Given the description of an element on the screen output the (x, y) to click on. 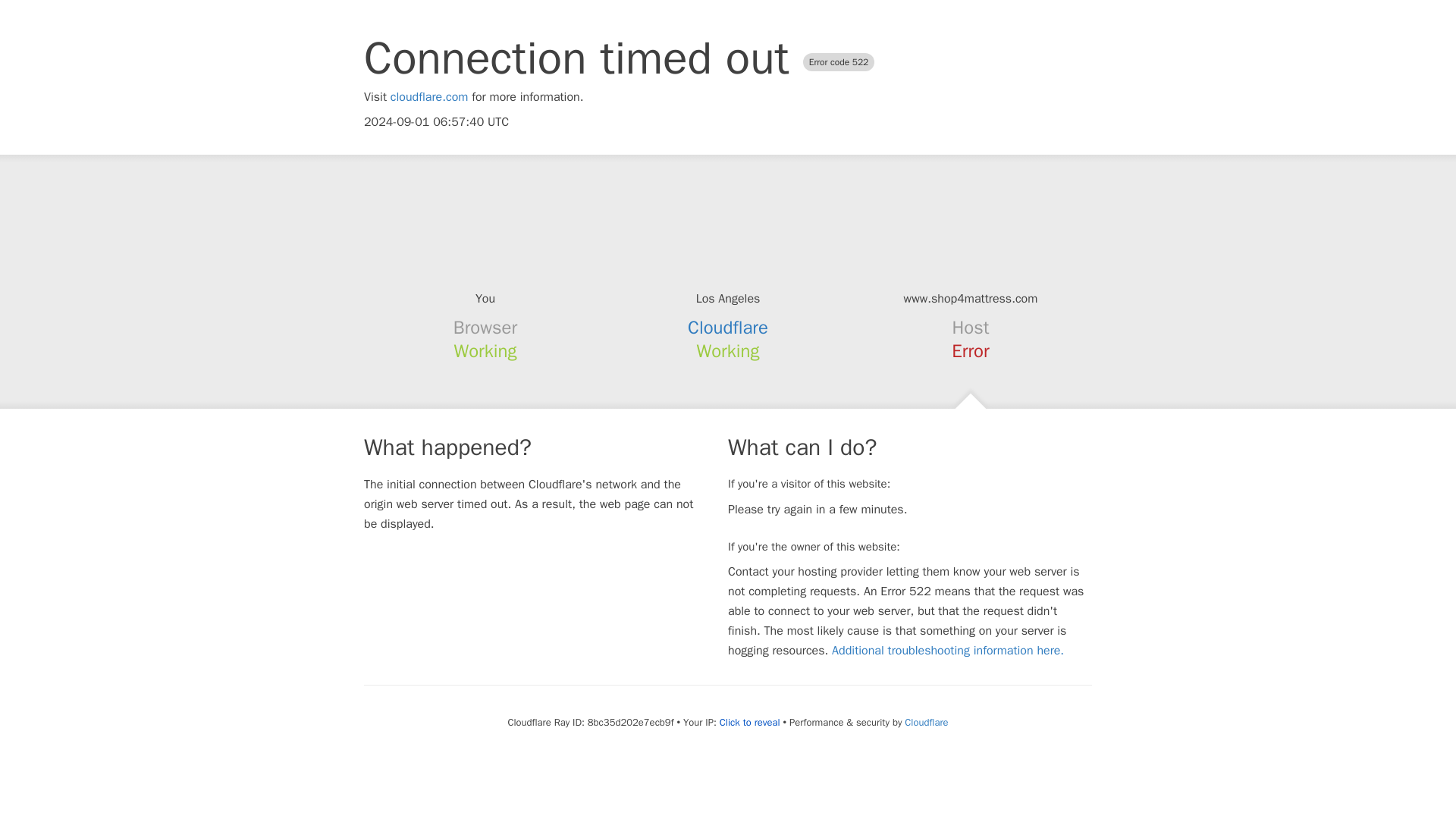
Cloudflare (727, 327)
cloudflare.com (429, 96)
Cloudflare (925, 721)
Click to reveal (749, 722)
Additional troubleshooting information here. (947, 650)
